Given the description of an element on the screen output the (x, y) to click on. 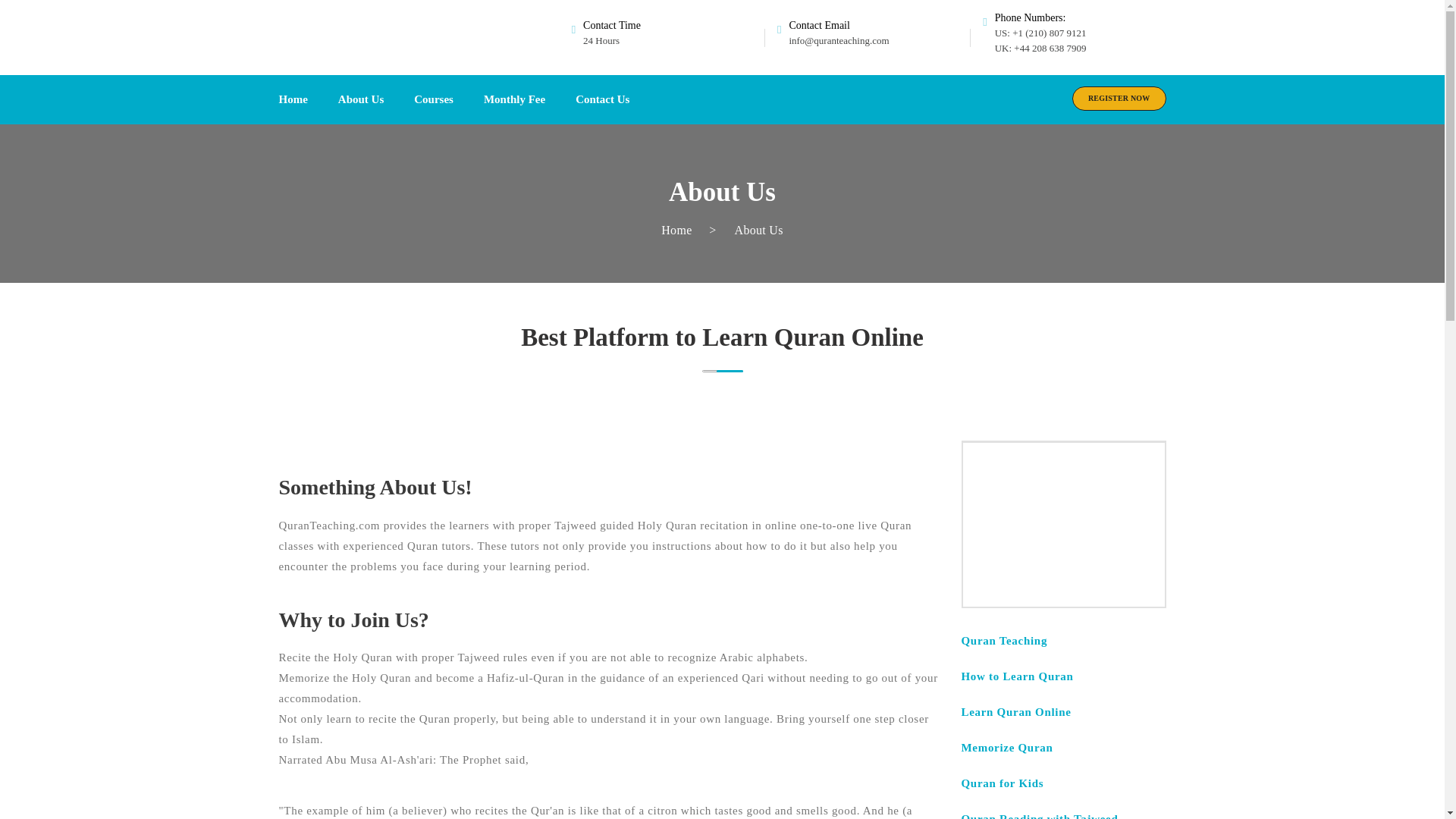
REGISTER NOW (1118, 98)
Courses (433, 99)
Quran for Kids  (1003, 783)
Quran Reading with Tajweed (1039, 816)
How to Learn Quran (1017, 676)
Quran Teaching (1004, 640)
Memorize Quran  (1008, 747)
Home (676, 229)
Monthly Fee (514, 99)
Learn Quran Online (1015, 711)
